Given the description of an element on the screen output the (x, y) to click on. 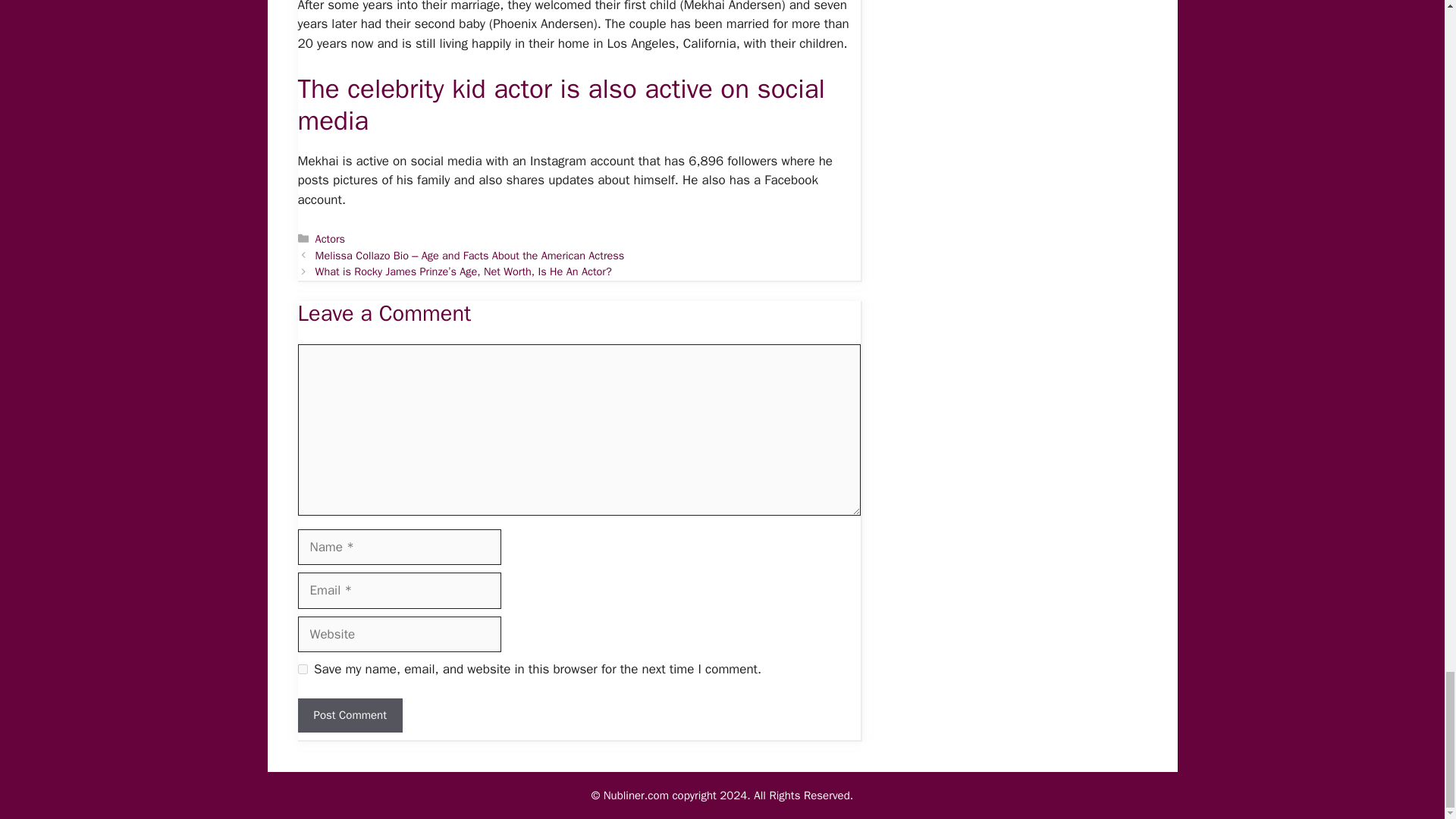
Post Comment (349, 715)
Actors (330, 238)
Previous (469, 255)
Post Comment (349, 715)
yes (302, 669)
Next (463, 271)
